Given the description of an element on the screen output the (x, y) to click on. 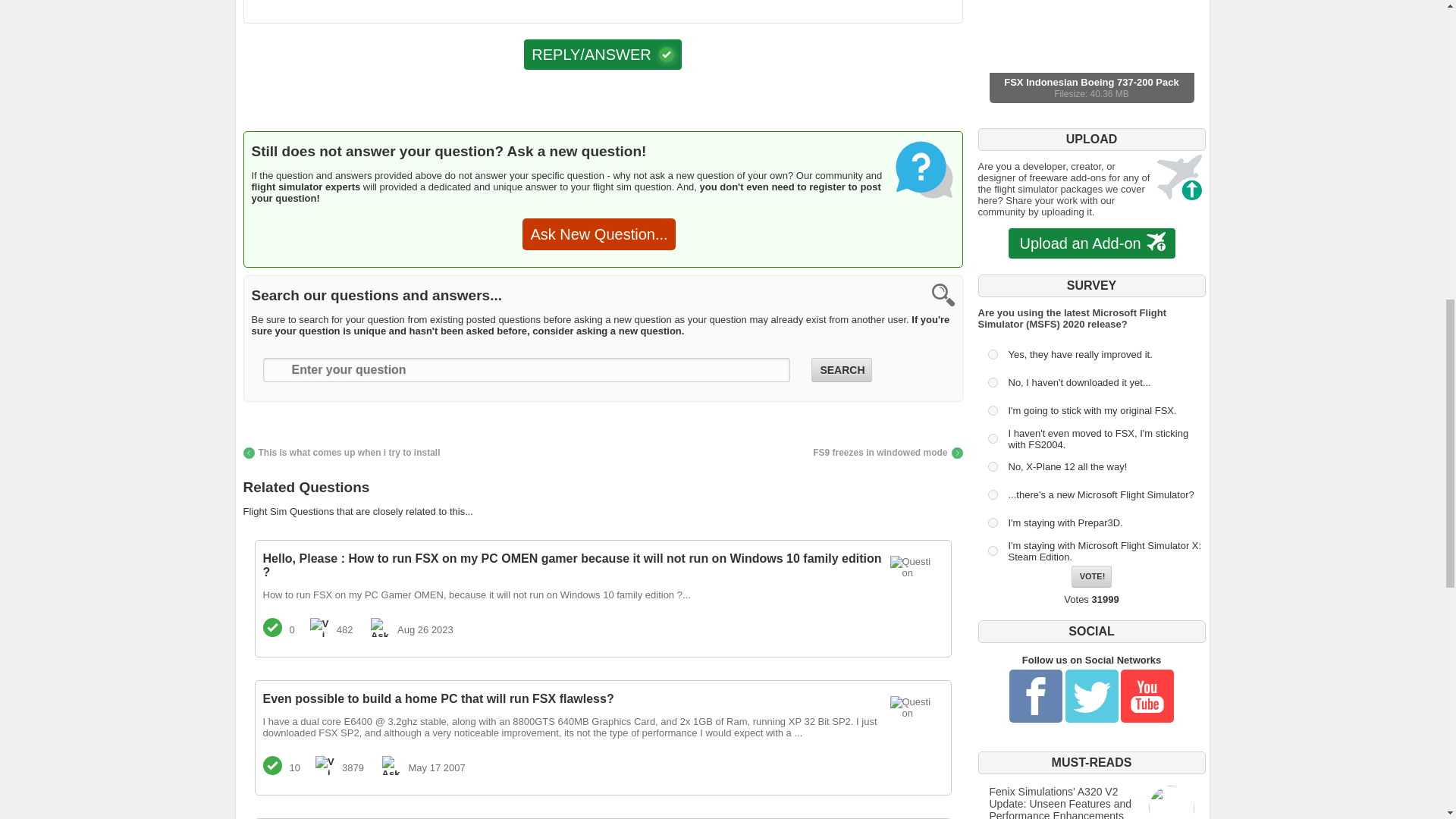
5 (992, 466)
2 (992, 382)
Number of views this question has had (319, 627)
Search (840, 369)
Ask New Question... (598, 234)
7 (992, 522)
FS9 freezes in windowed mode (887, 452)
Next Question (887, 452)
This is what comes up when i try to install (341, 452)
4 (992, 438)
